Given the description of an element on the screen output the (x, y) to click on. 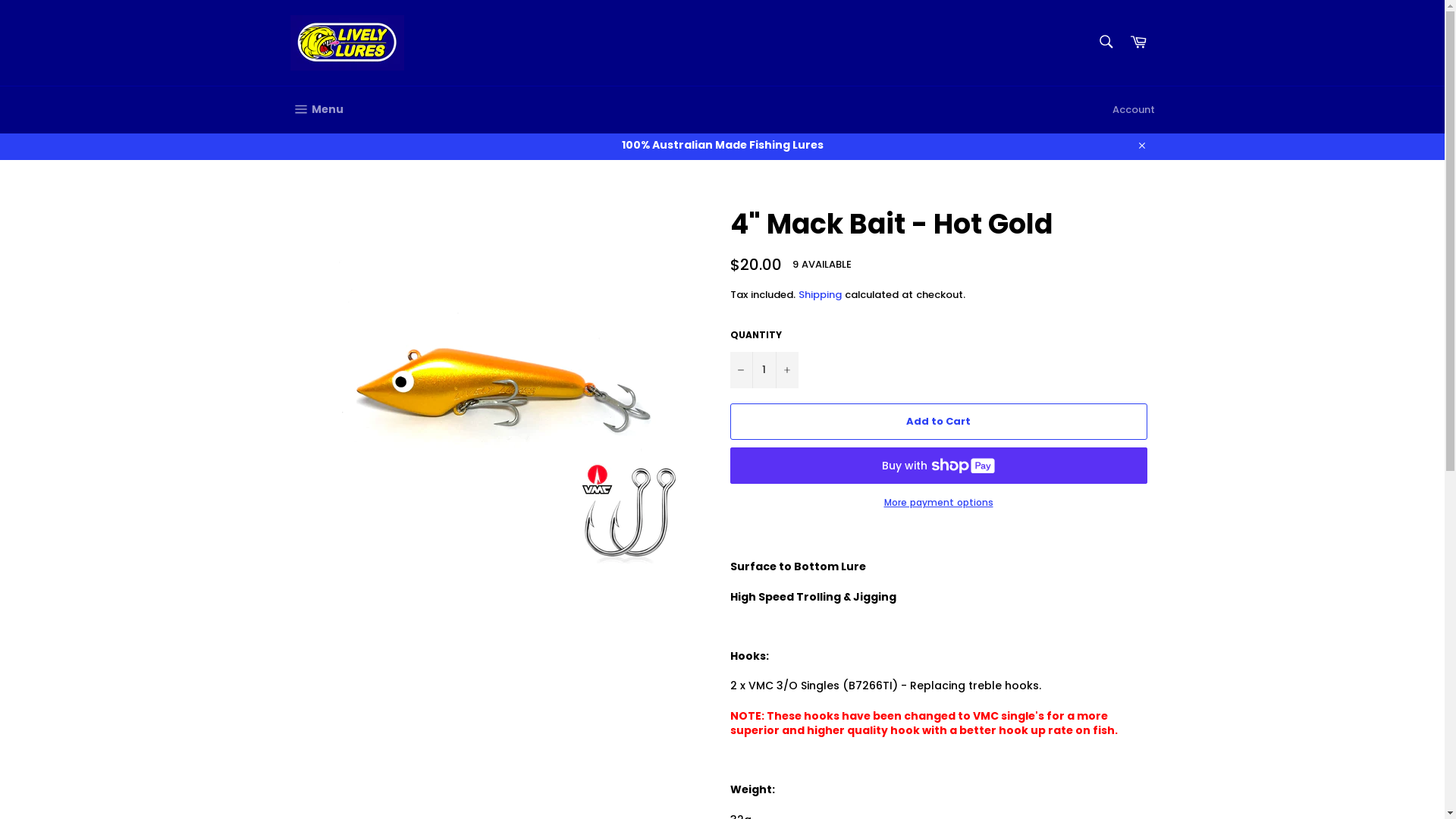
Menu
Site navigation Element type: text (315, 109)
Cart Element type: text (1138, 42)
Search Element type: text (1105, 41)
+ Element type: text (786, 369)
Close Element type: text (1140, 145)
Shipping Element type: text (818, 294)
Add to Cart Element type: text (937, 421)
Account Element type: text (1132, 109)
More payment options Element type: text (937, 502)
100% Australian Made Fishing Lures Element type: text (721, 145)
